Given the description of an element on the screen output the (x, y) to click on. 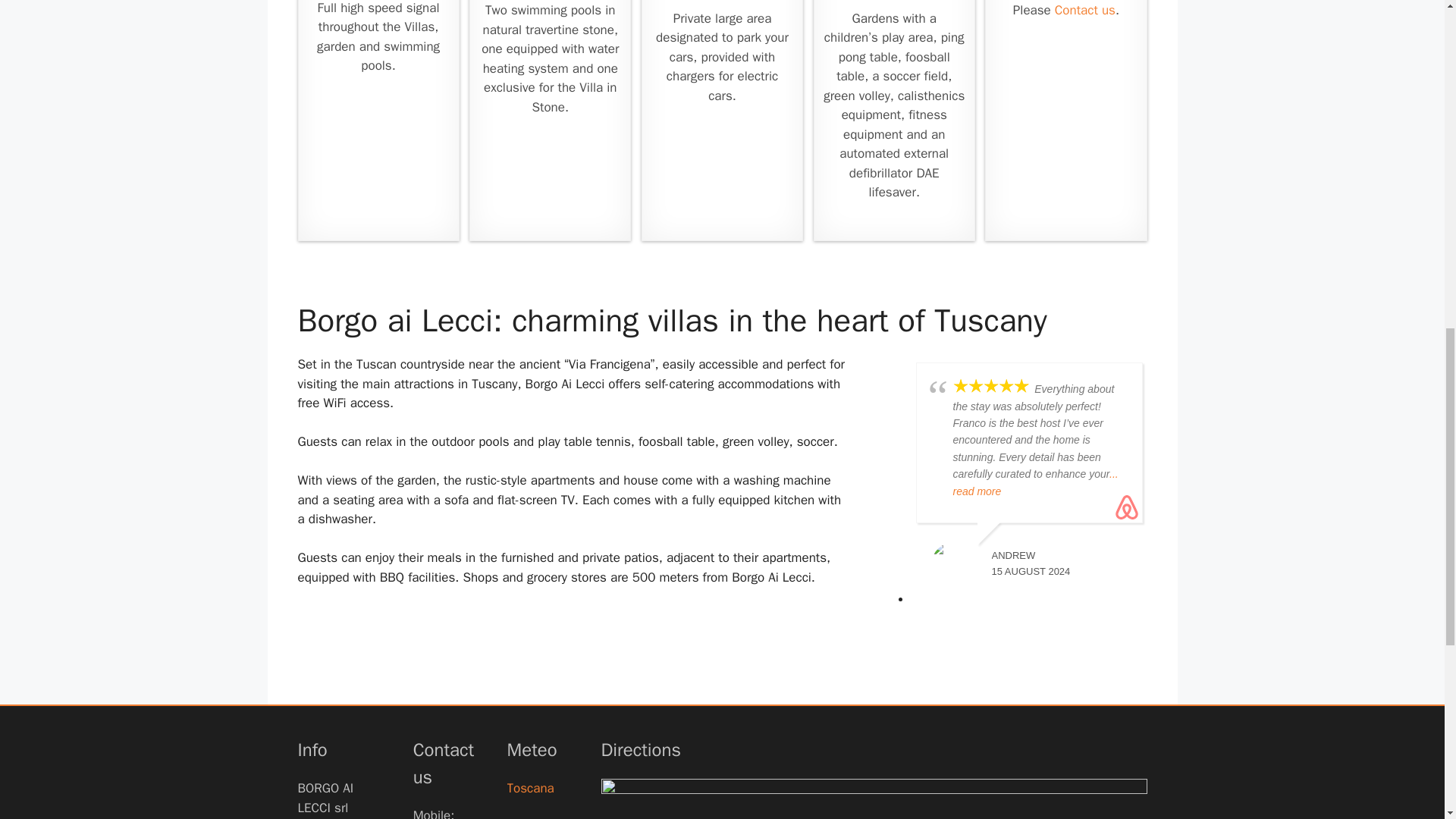
... read more (1035, 481)
Contact us (1084, 10)
Meteo Toscana (538, 788)
